Given the description of an element on the screen output the (x, y) to click on. 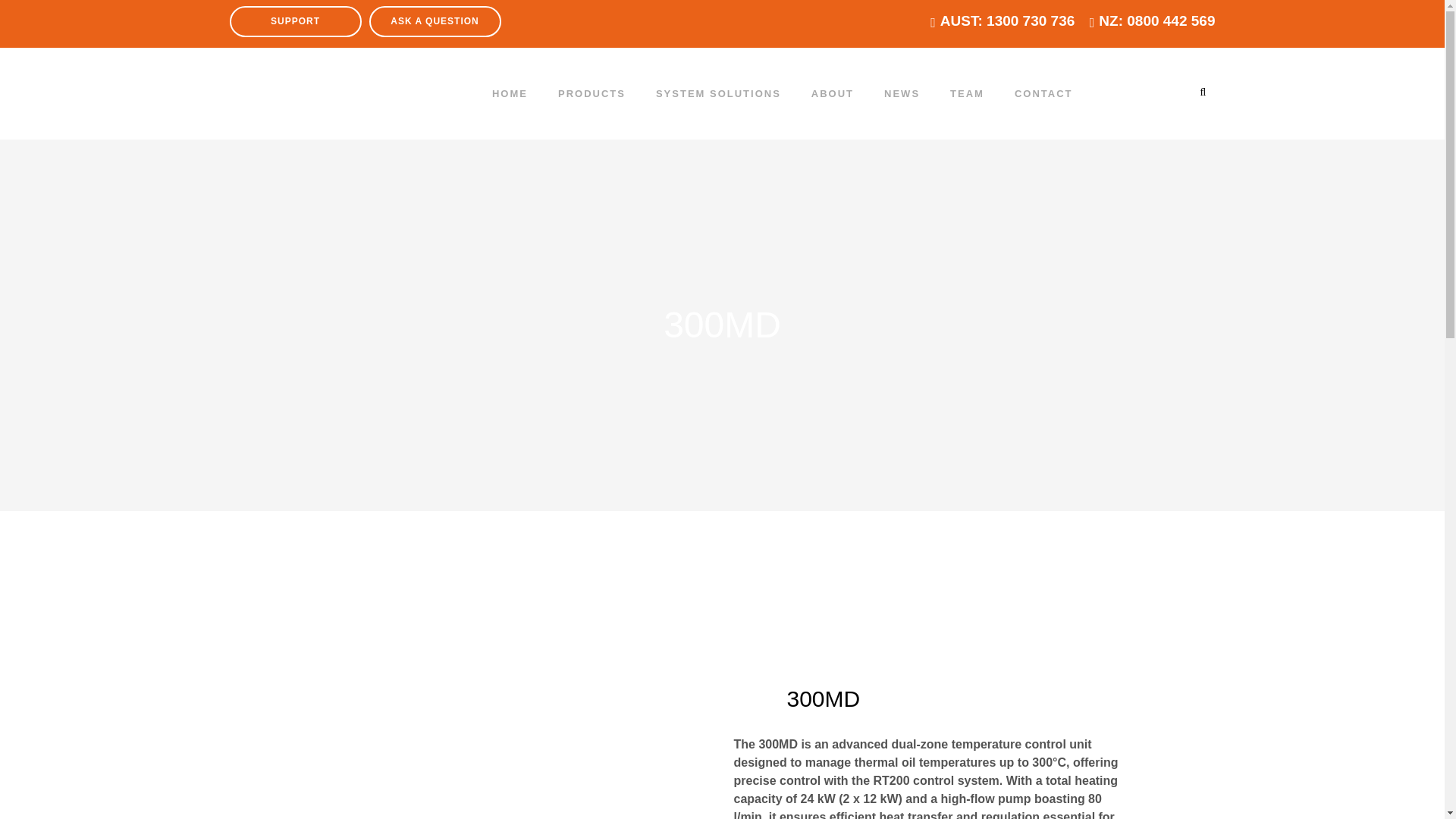
ASK A QUESTION (434, 20)
Fleming Linkedin Logo (1140, 93)
logo-share-1 (846, 593)
AUST: 1300 730 736 (1007, 20)
CONTACT (1042, 93)
PRODUCTS (591, 93)
SUPPORT (294, 20)
NZ: 0800 442 569 (1156, 20)
SYSTEM SOLUTIONS (718, 93)
